Given the description of an element on the screen output the (x, y) to click on. 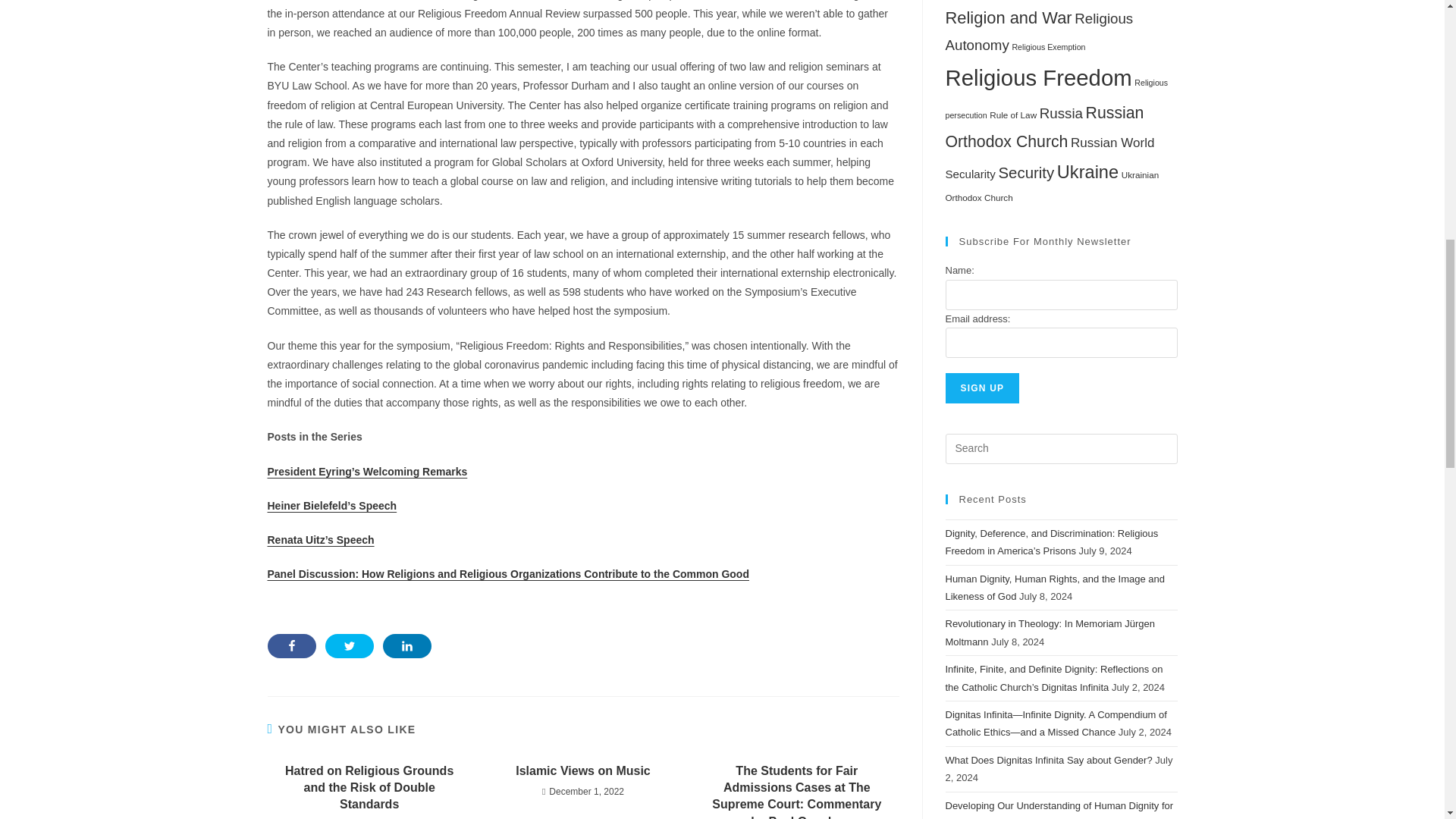
Share on Facebook (290, 645)
Sign up (981, 388)
Share on LinkedIn (405, 645)
Hatred on Religious Grounds and the Risk of Double Standards (368, 788)
Share on Twitter (348, 645)
Islamic Views on Music (582, 770)
